Given the description of an element on the screen output the (x, y) to click on. 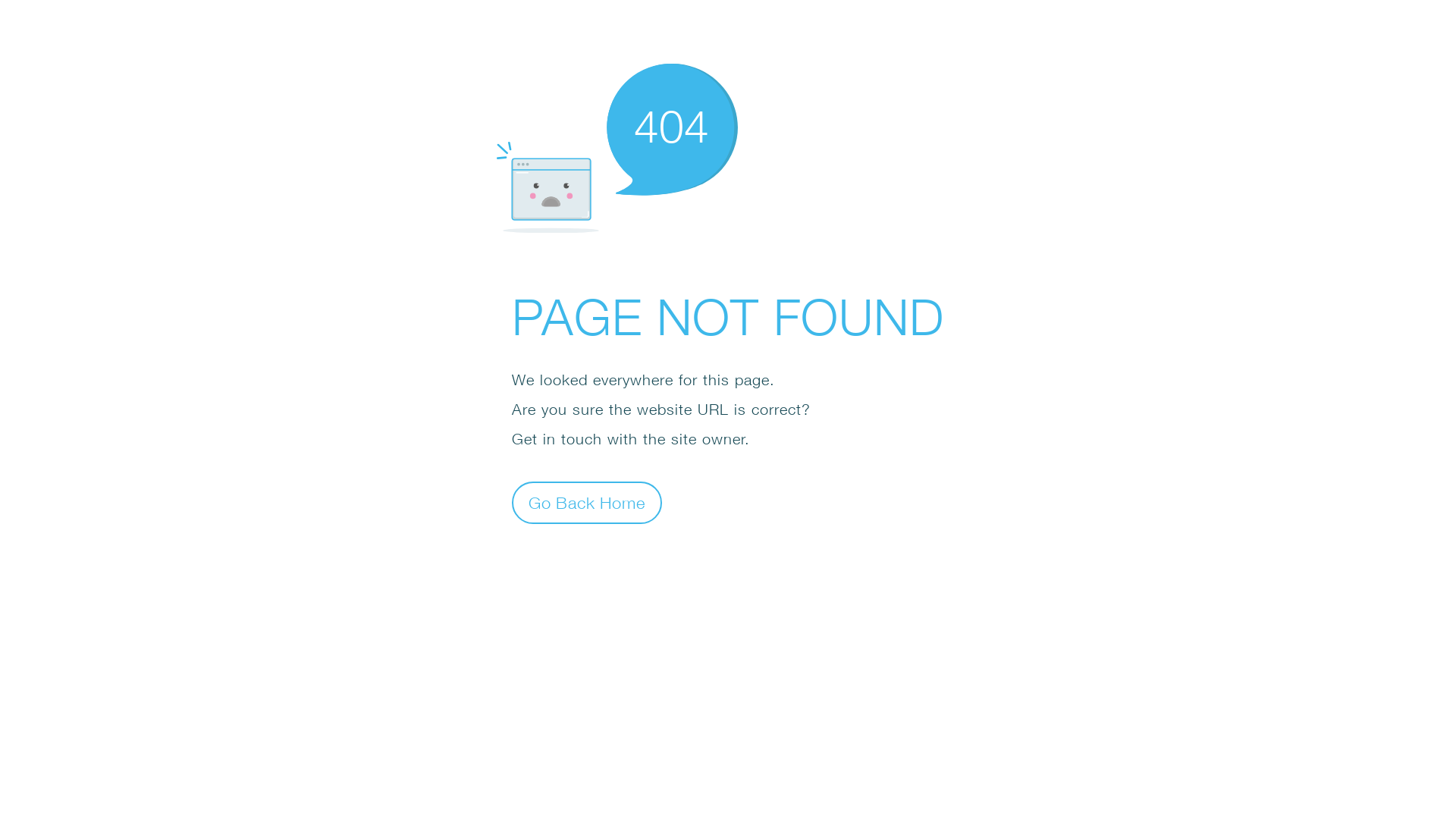
Go Back Home Element type: text (586, 502)
